Given the description of an element on the screen output the (x, y) to click on. 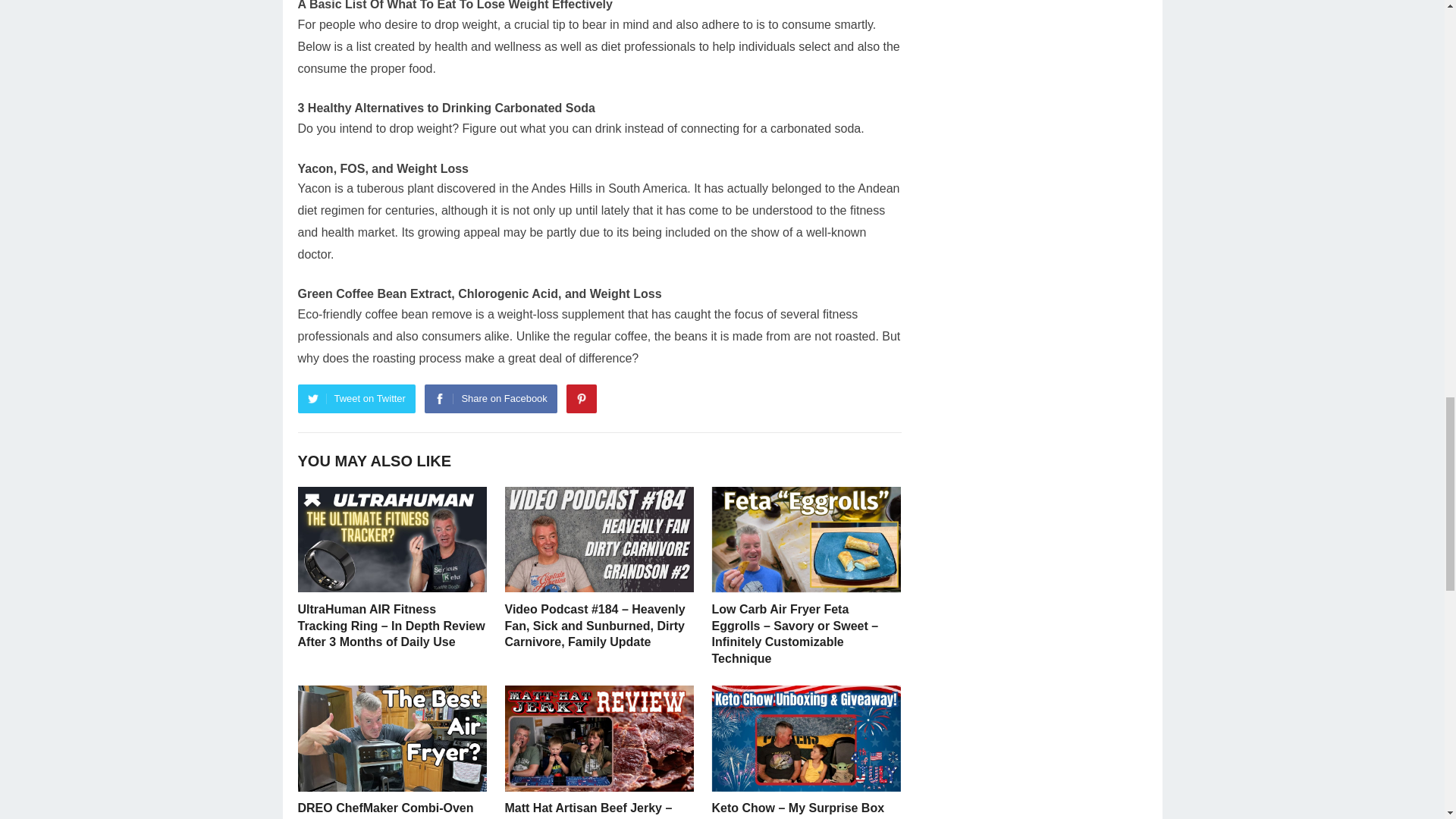
Tweet on Twitter (355, 398)
Share on Facebook (490, 398)
Pinterest (581, 398)
